Given the description of an element on the screen output the (x, y) to click on. 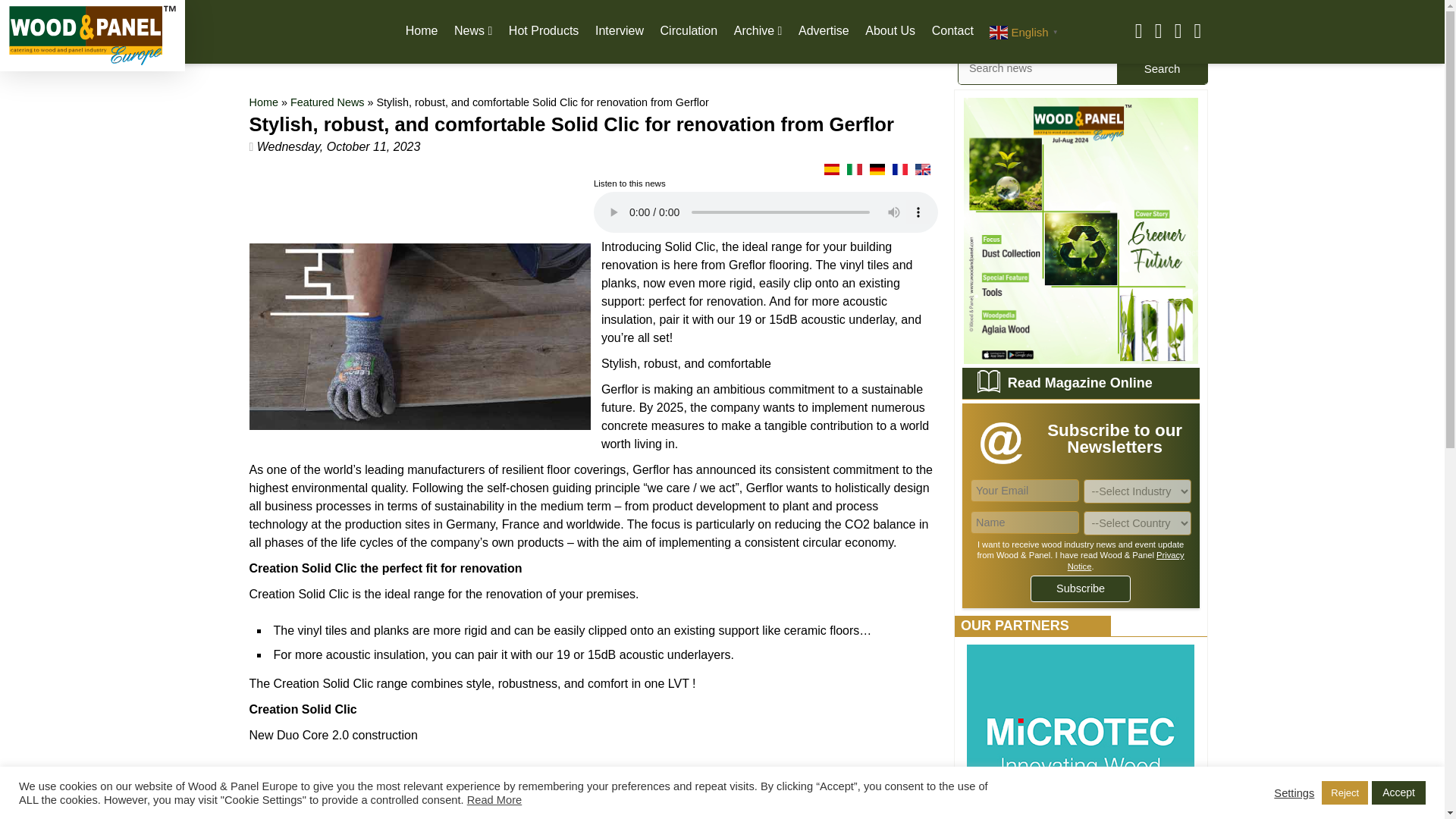
Advertise (822, 30)
About Us (889, 30)
Search (1161, 68)
Subscribe (1080, 588)
Featured News (327, 102)
Contact (952, 30)
Circulation (689, 30)
Home (422, 30)
Hot Products (543, 30)
Archive (758, 30)
Home (263, 102)
Interview (619, 30)
News (473, 30)
